Given the description of an element on the screen output the (x, y) to click on. 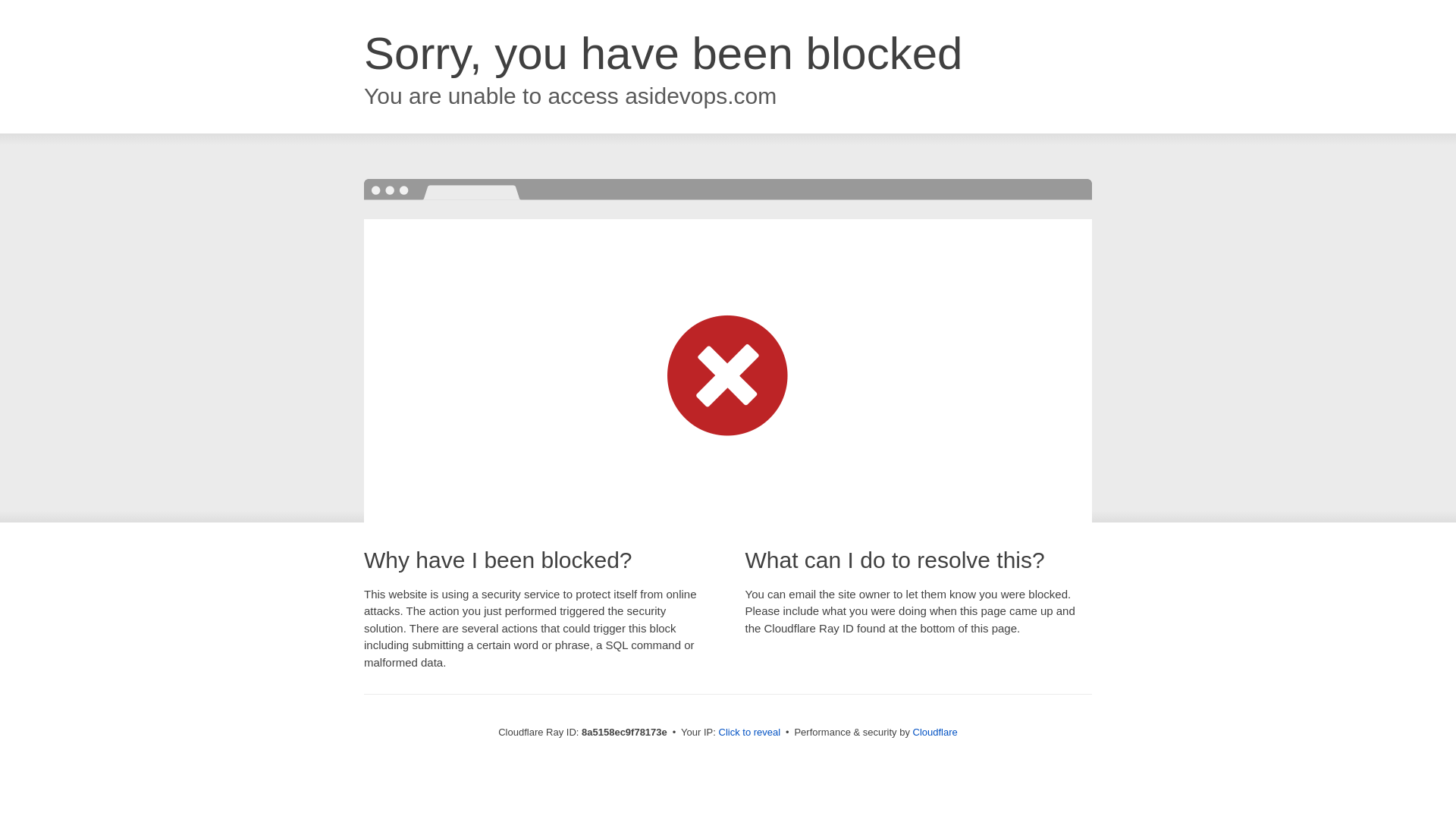
Cloudflare (935, 731)
Click to reveal (749, 732)
